Given the description of an element on the screen output the (x, y) to click on. 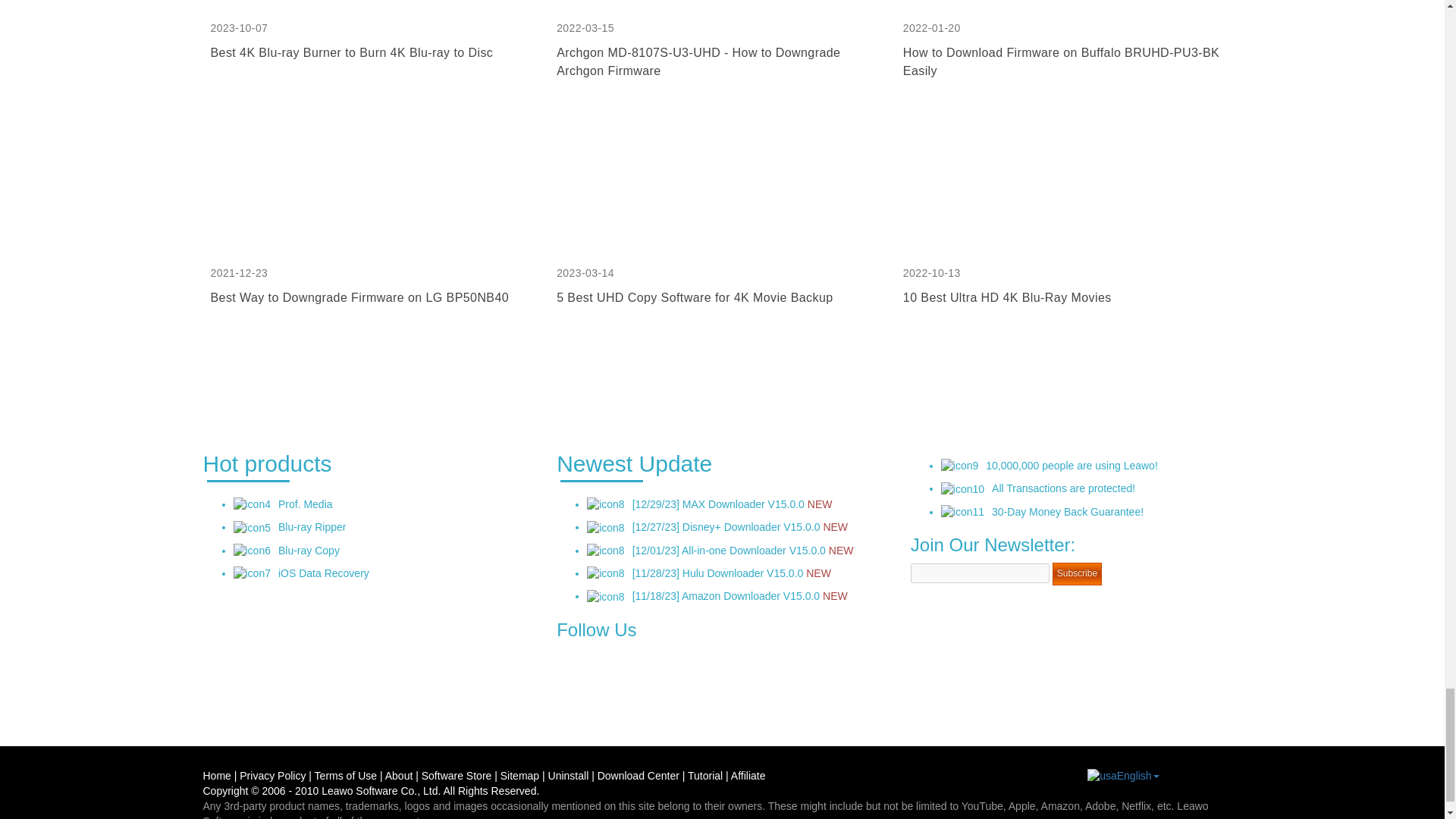
Subscribe (1077, 573)
Leawo Software (359, 790)
